Given the description of an element on the screen output the (x, y) to click on. 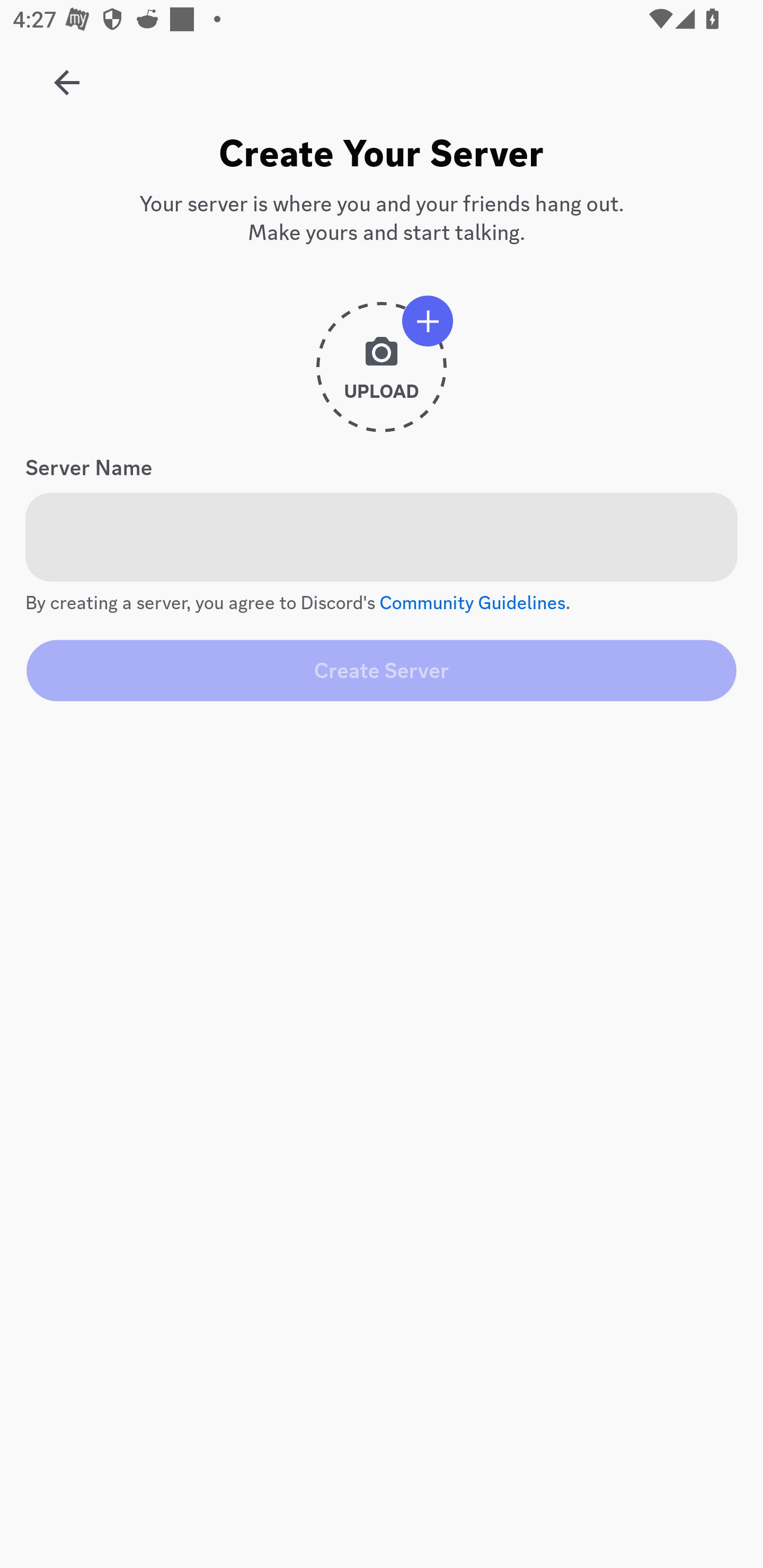
  Friends F (66, 75)
Search (373, 165)
Upload Image UPLOAD (381, 373)
Create Server (381, 670)
